Given the description of an element on the screen output the (x, y) to click on. 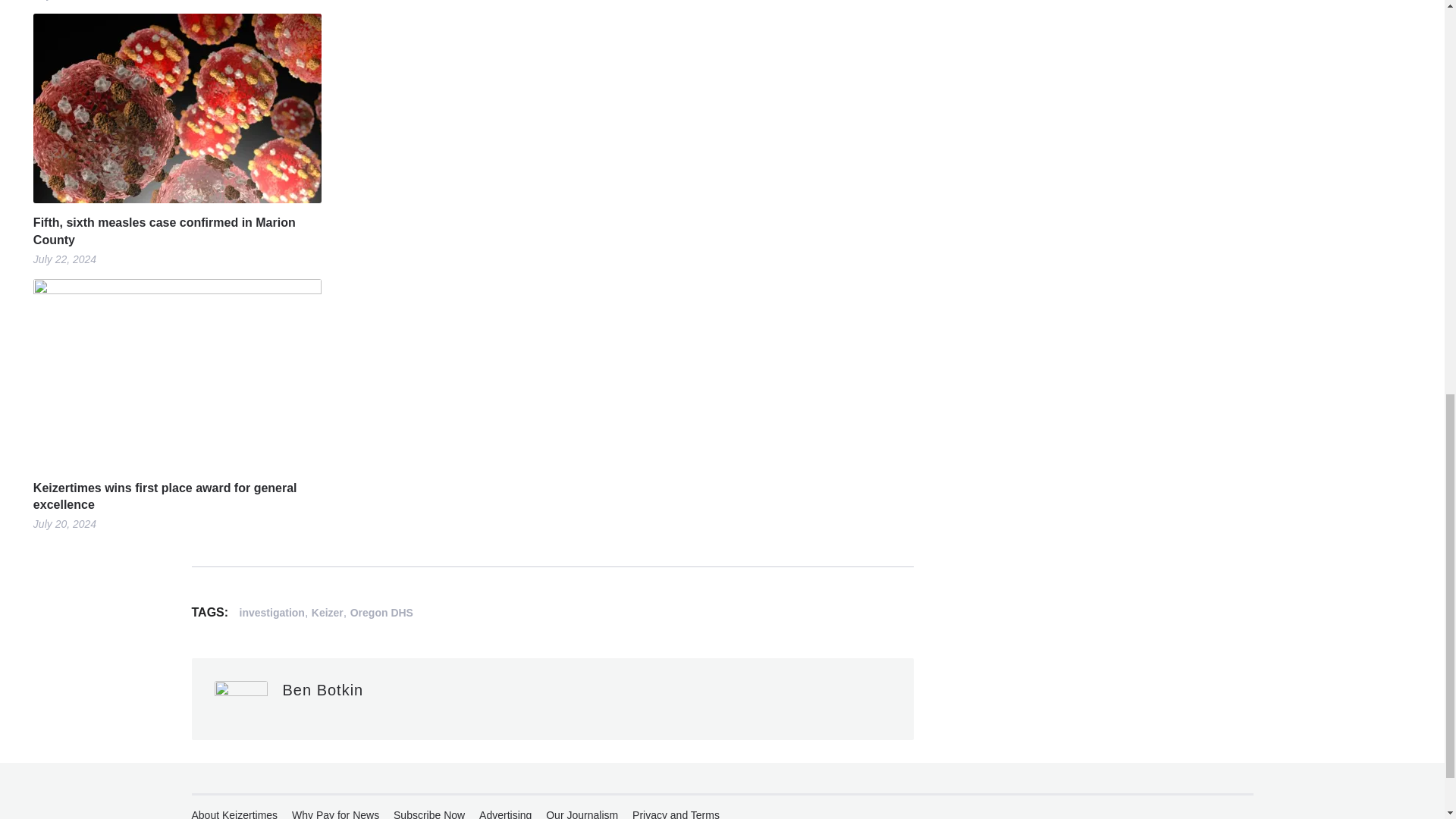
Posts by Ben Botkin (322, 689)
Fifth, sixth measles case confirmed in Marion County (177, 231)
Keizertimes wins first place award for general excellence (177, 496)
